Given the description of an element on the screen output the (x, y) to click on. 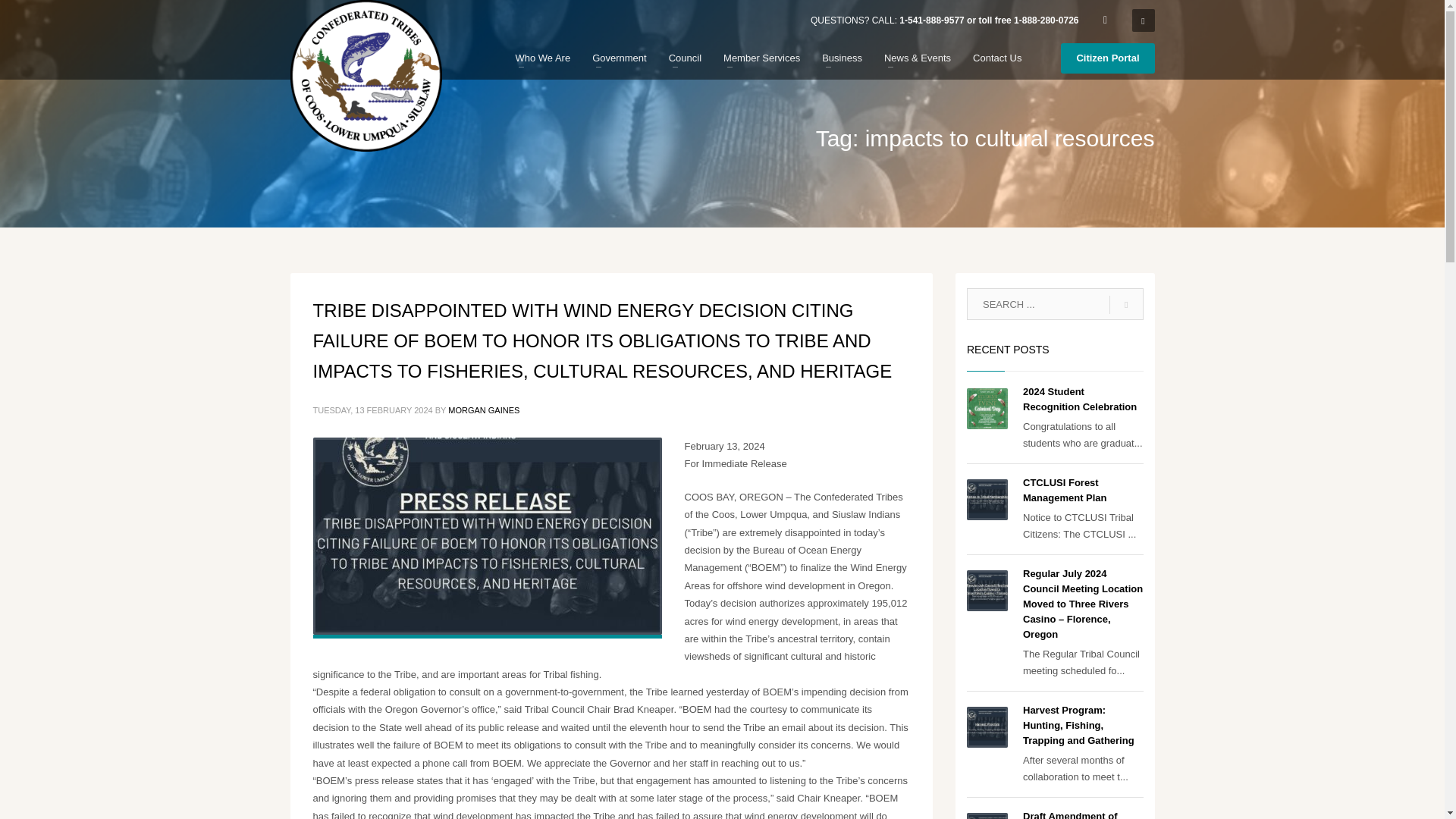
CTCLUSI Forest Management Plan (1064, 489)
Harvest Program: Hunting, Fishing, Trapping and Gathering (1078, 725)
Posts by Morgan Gaines (483, 409)
Council (684, 57)
1-541-888-9577 or toll free 1-888-280-0726 (988, 20)
Facebook (1104, 20)
Business (841, 57)
Government (619, 57)
Draft Amendment of LRTP (1069, 814)
Press Release (487, 535)
Federally Recognized Tribal Government based in Oregon (365, 75)
2024 Student Recognition Celebration (1080, 398)
Member Services (761, 57)
Who We Are (542, 57)
